Given the description of an element on the screen output the (x, y) to click on. 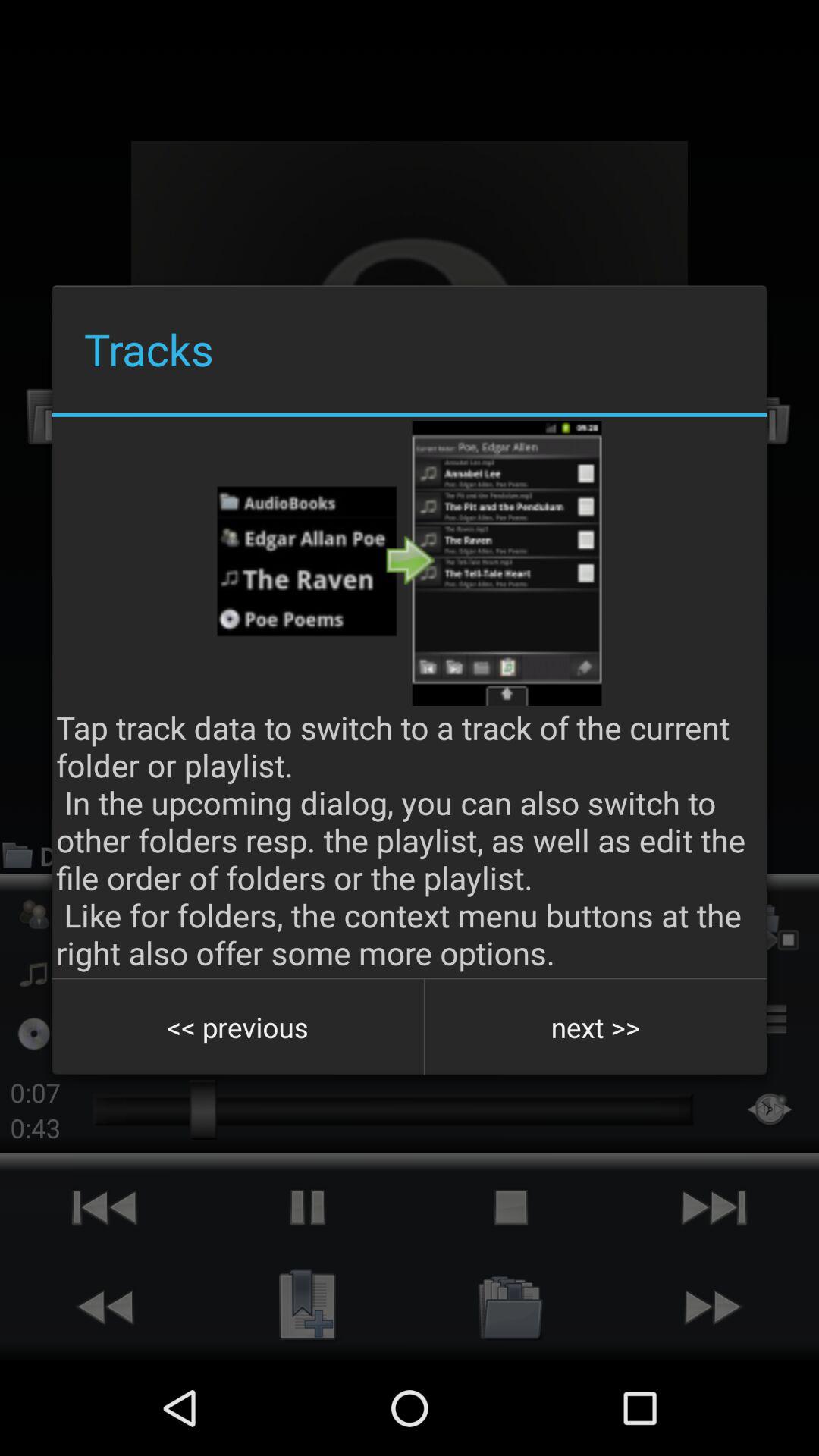
press the next >> icon (595, 1026)
